Given the description of an element on the screen output the (x, y) to click on. 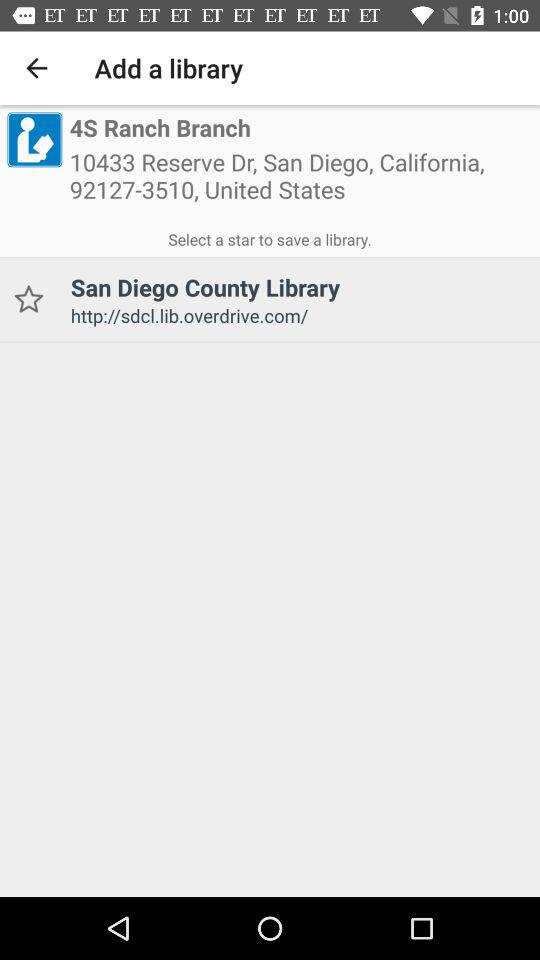
favorite library (28, 299)
